Given the description of an element on the screen output the (x, y) to click on. 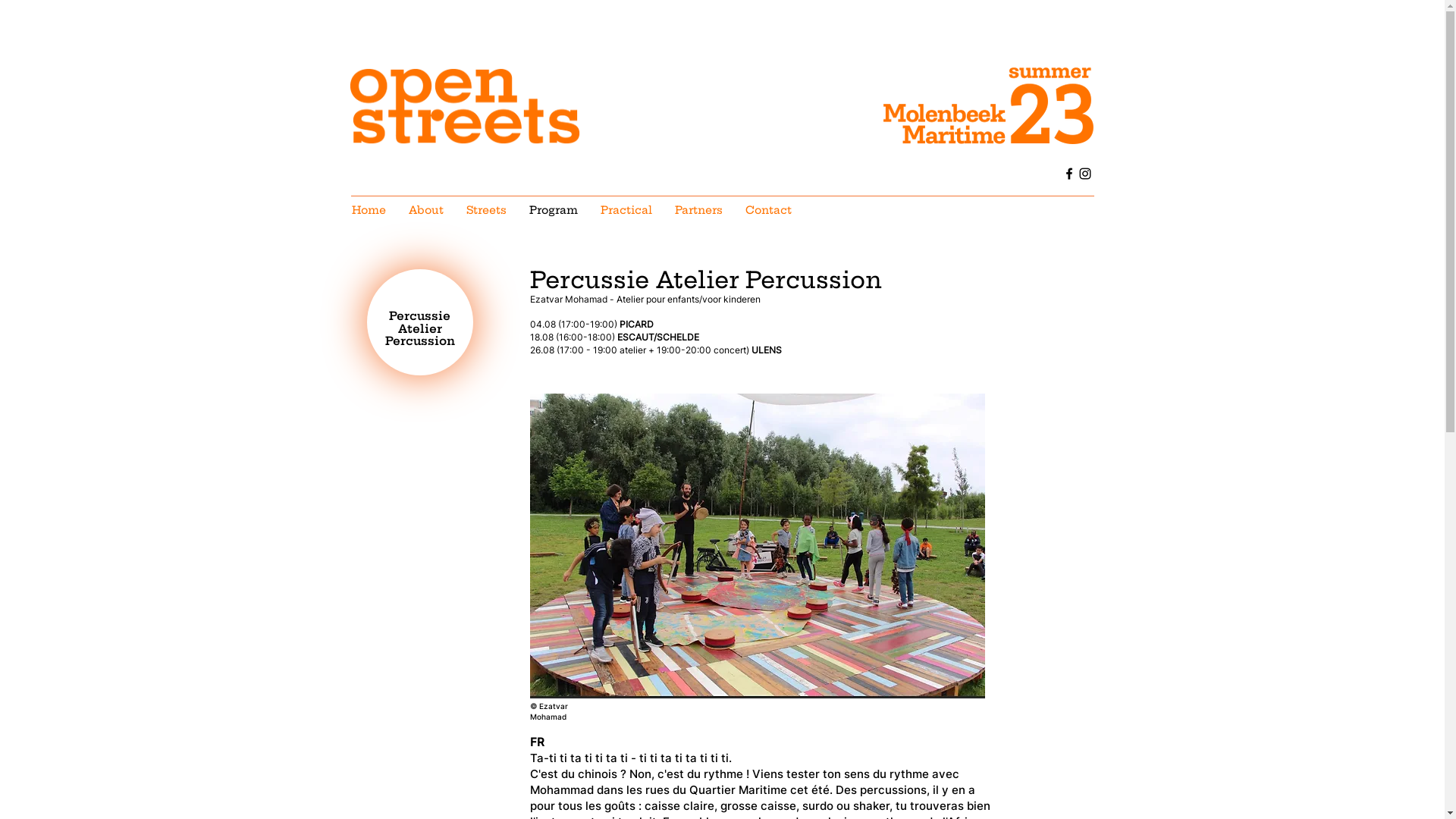
About Element type: text (426, 210)
Partners Element type: text (697, 210)
Practical Element type: text (625, 210)
Program Element type: text (552, 210)
IMG_8928.jpg Element type: hover (756, 545)
Home Element type: text (367, 210)
Contact Element type: text (768, 210)
